Given the description of an element on the screen output the (x, y) to click on. 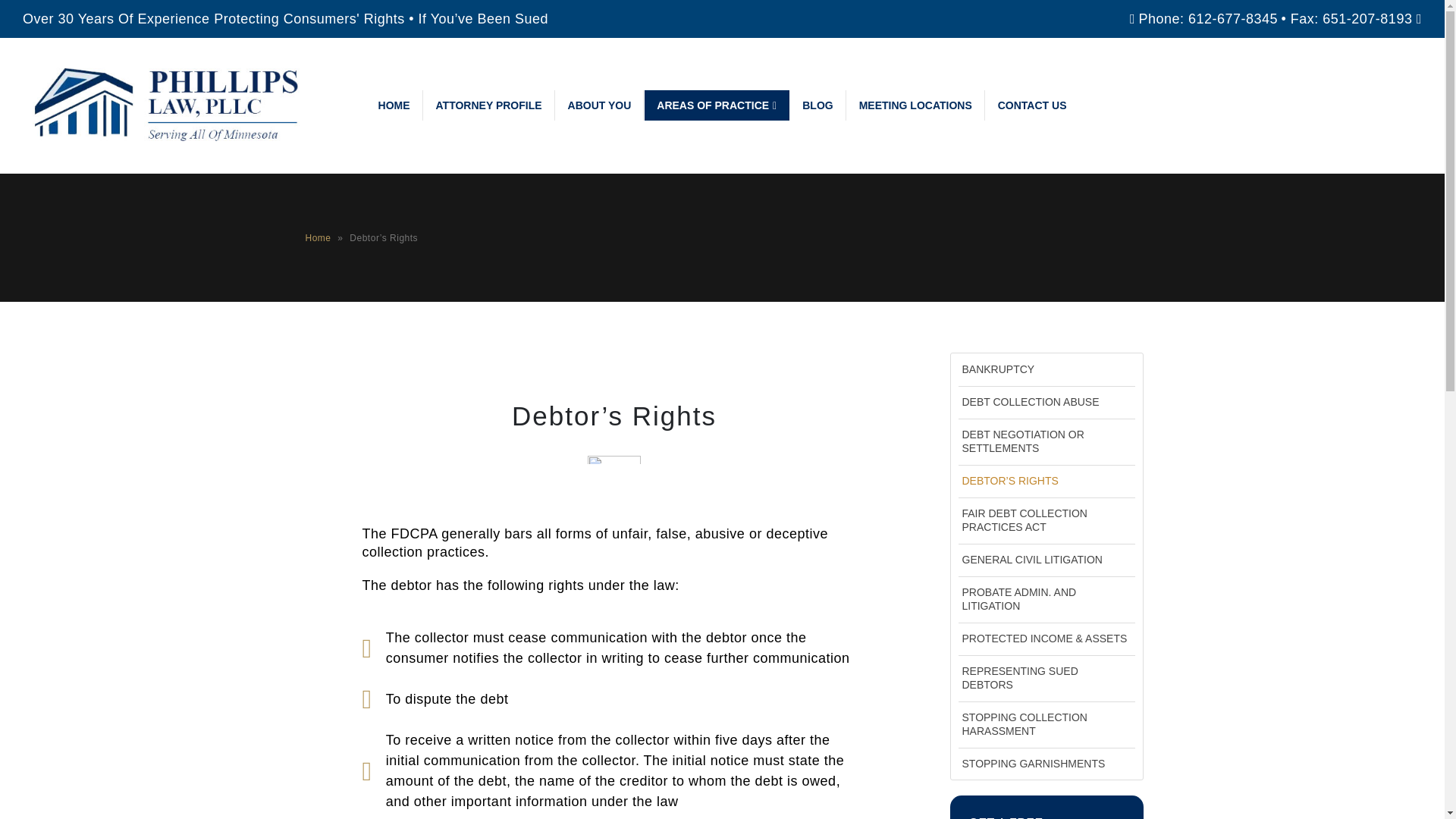
ABOUT YOU (600, 105)
BLOG (817, 105)
CONTACT US (1031, 105)
HOME (394, 105)
AREAS OF PRACTICE (717, 105)
Phillips Law PLLC -  (174, 105)
ATTORNEY PROFILE (488, 105)
MEETING LOCATIONS (916, 105)
Phone: 612-677-8345 (1208, 17)
